Given the description of an element on the screen output the (x, y) to click on. 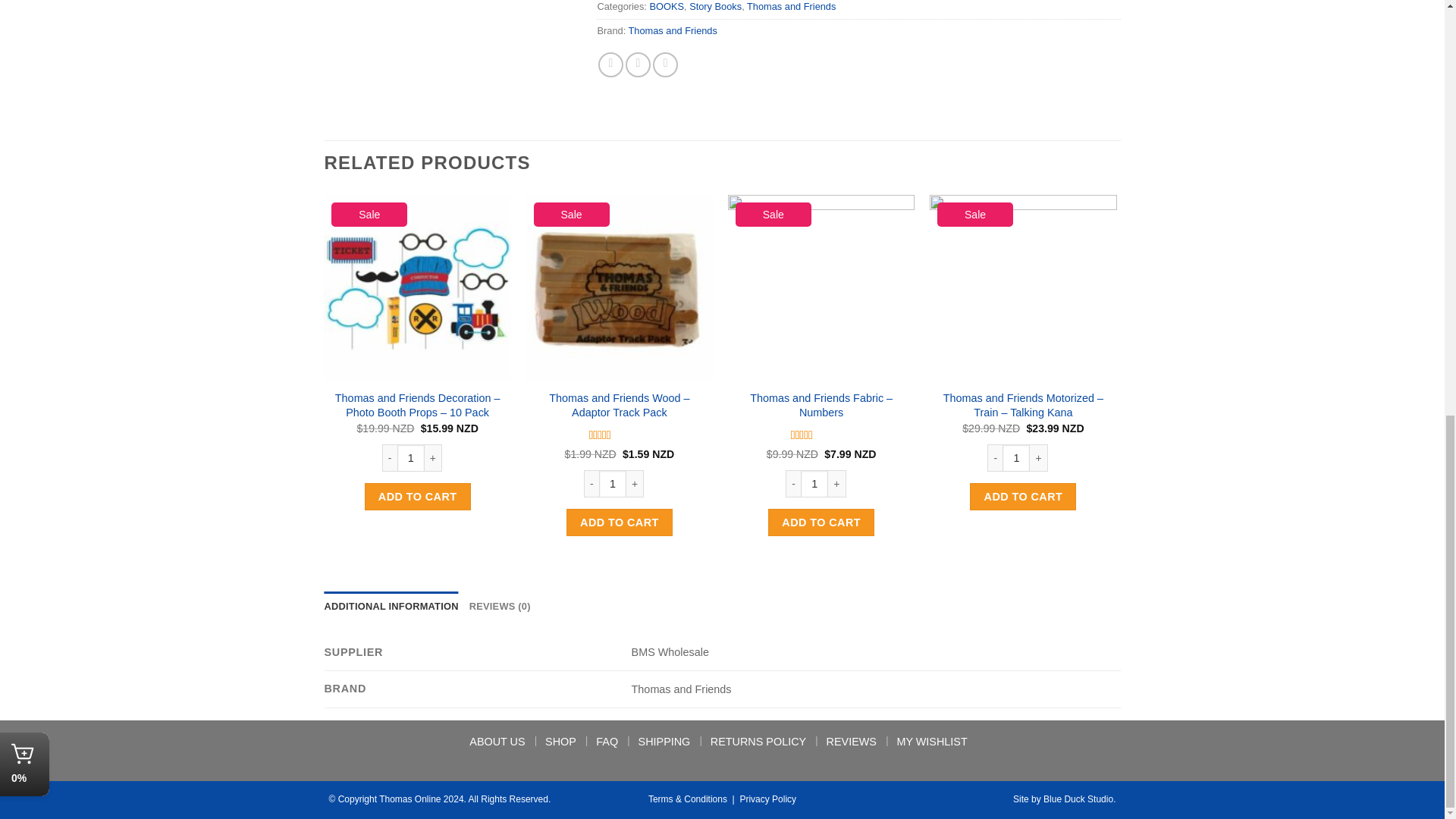
1 (1016, 457)
1 (814, 483)
1 (1218, 483)
1 (411, 457)
1 (612, 483)
